Given the description of an element on the screen output the (x, y) to click on. 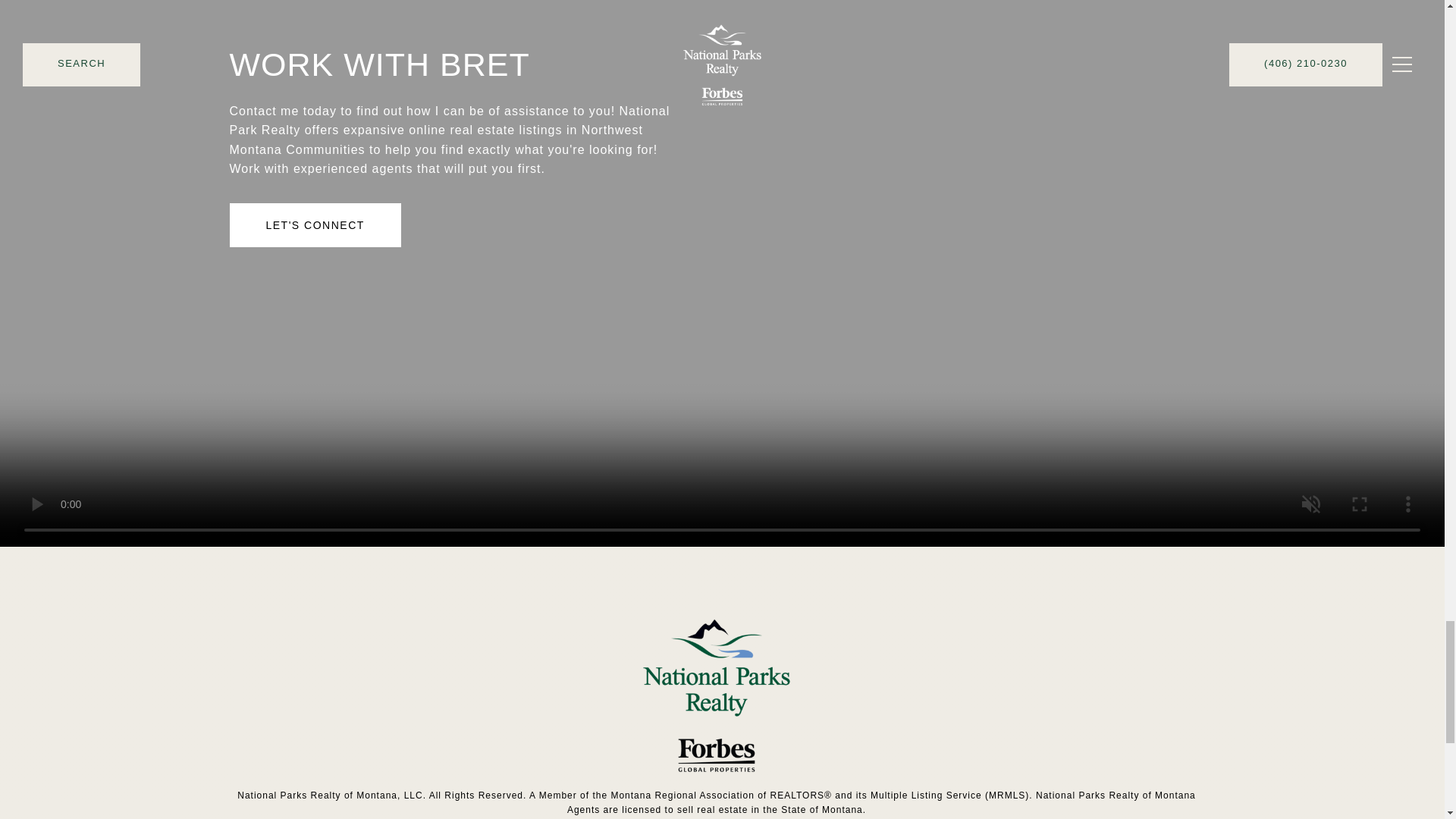
LET'S CONNECT (314, 225)
